Given the description of an element on the screen output the (x, y) to click on. 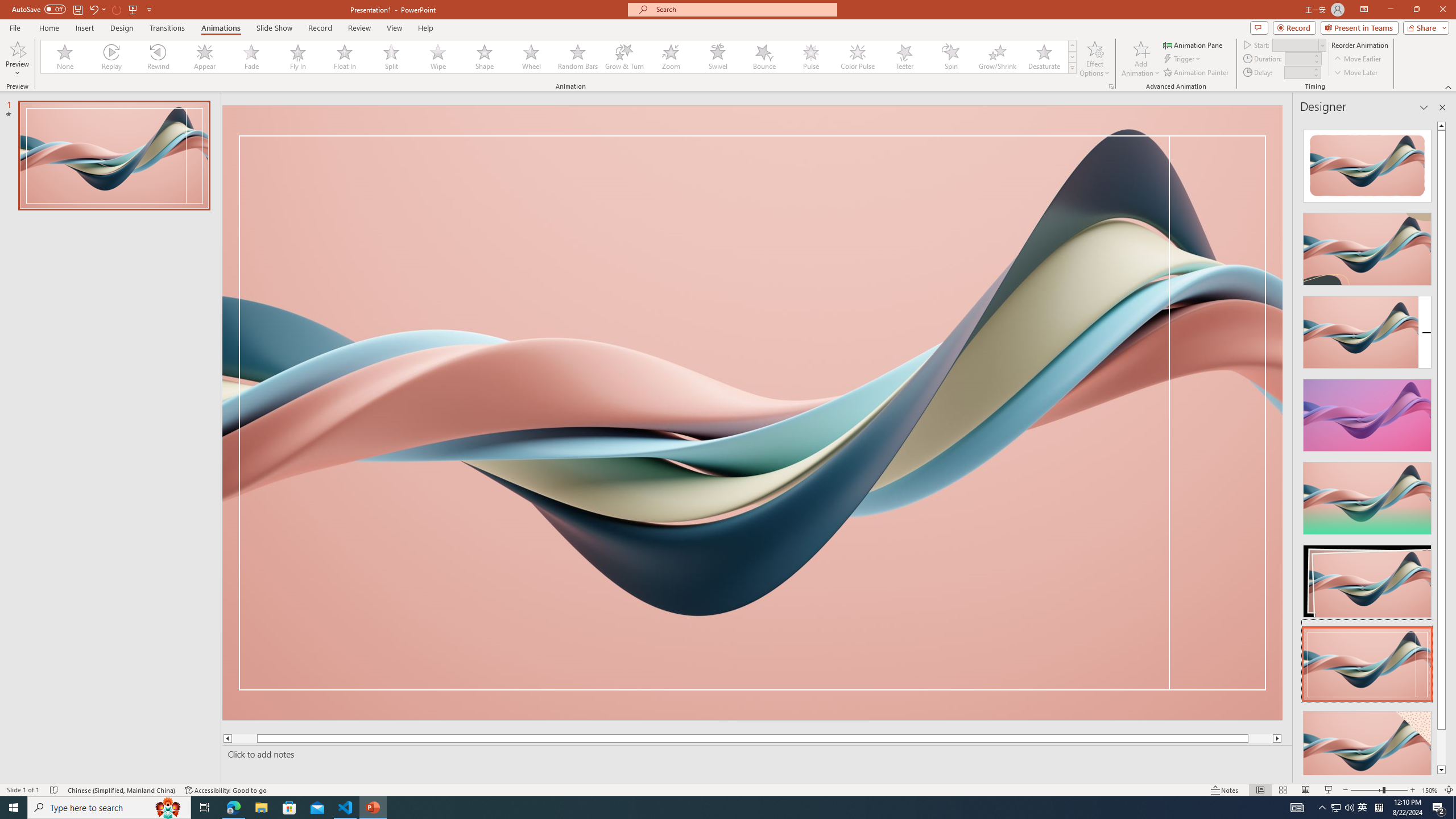
Desaturate (1043, 56)
AutomationID: AnimationGallery (558, 56)
Zoom 150% (1430, 790)
Grow/Shrink (997, 56)
Fly In (298, 56)
